Given the description of an element on the screen output the (x, y) to click on. 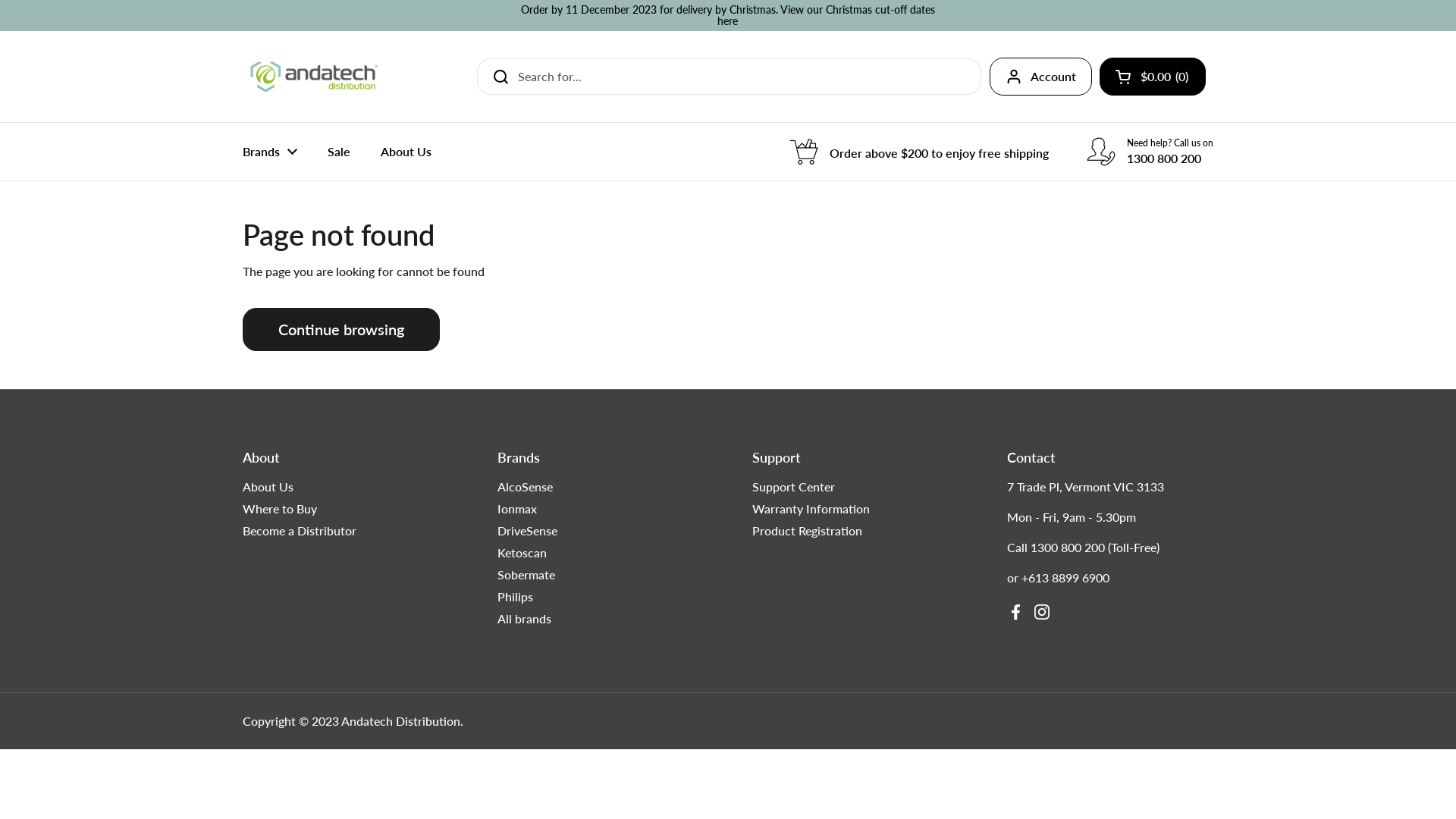
Ketoscan Element type: text (521, 552)
Warranty Information Element type: text (810, 508)
Product Registration Element type: text (807, 530)
All brands Element type: text (524, 618)
Andatech Distribution Element type: text (400, 720)
About Us Element type: text (405, 151)
Facebook Element type: text (1016, 611)
1300 800 200 Element type: text (1067, 547)
Need help? Call us on
1300 800 200 Element type: text (1149, 151)
DriveSense Element type: text (527, 530)
Instagram Element type: text (1041, 611)
Account Element type: text (1040, 76)
Sale Element type: text (338, 151)
Support Center Element type: text (793, 486)
Where to Buy Element type: text (279, 508)
Ionmax Element type: text (516, 508)
Sobermate Element type: text (526, 574)
Continue browsing Element type: text (340, 329)
Become a Distributor Element type: text (299, 530)
About Us Element type: text (267, 486)
+613 8899 6900 Element type: text (1065, 577)
Open cart
$0.00
0 Element type: text (1152, 76)
Skip to content Element type: text (0, 0)
Andatech Distribution Element type: hover (313, 76)
AlcoSense Element type: text (524, 486)
Brands Element type: text (269, 151)
Philips Element type: text (515, 596)
